Given the description of an element on the screen output the (x, y) to click on. 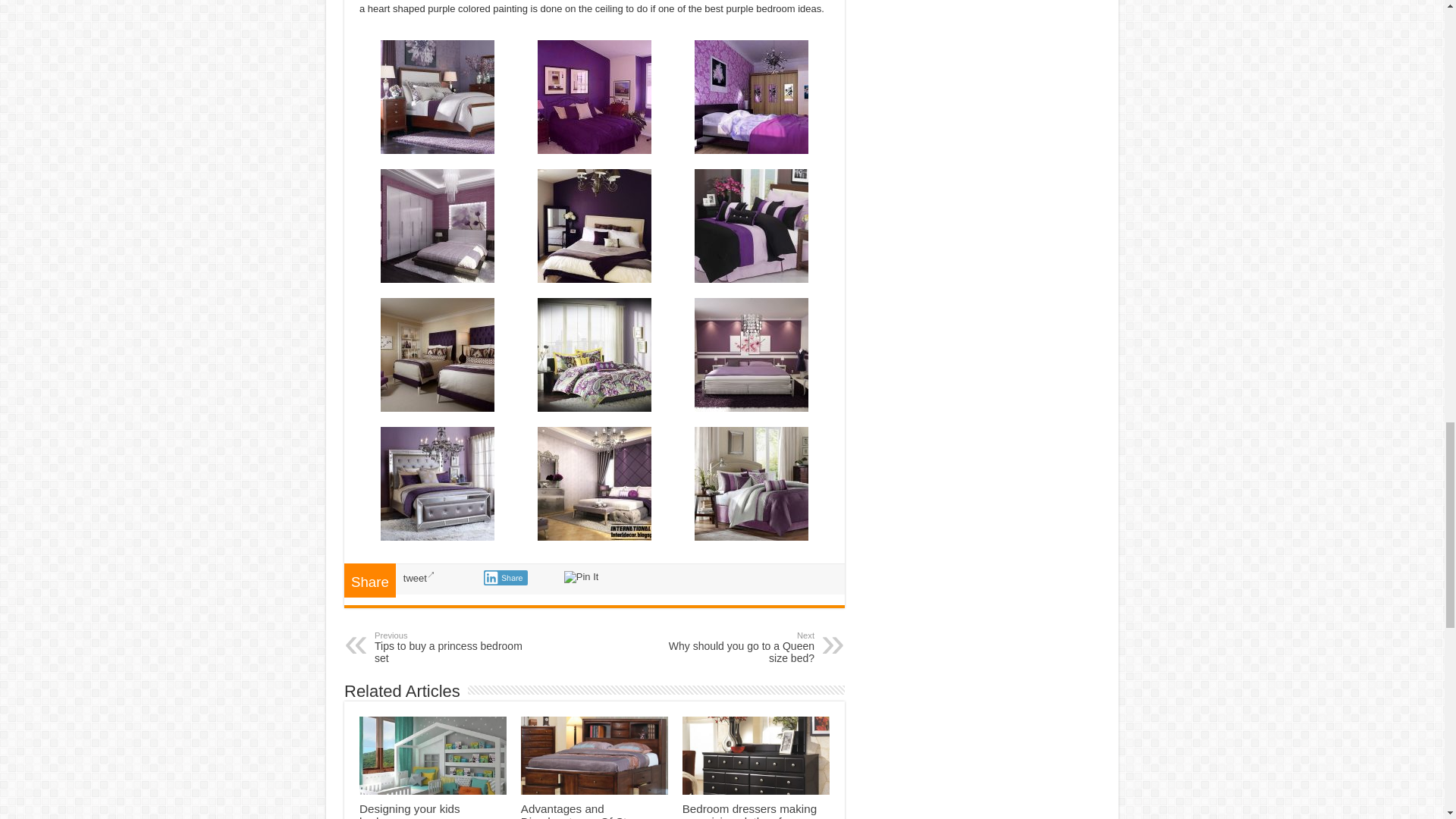
Pin It (581, 576)
